Given the description of an element on the screen output the (x, y) to click on. 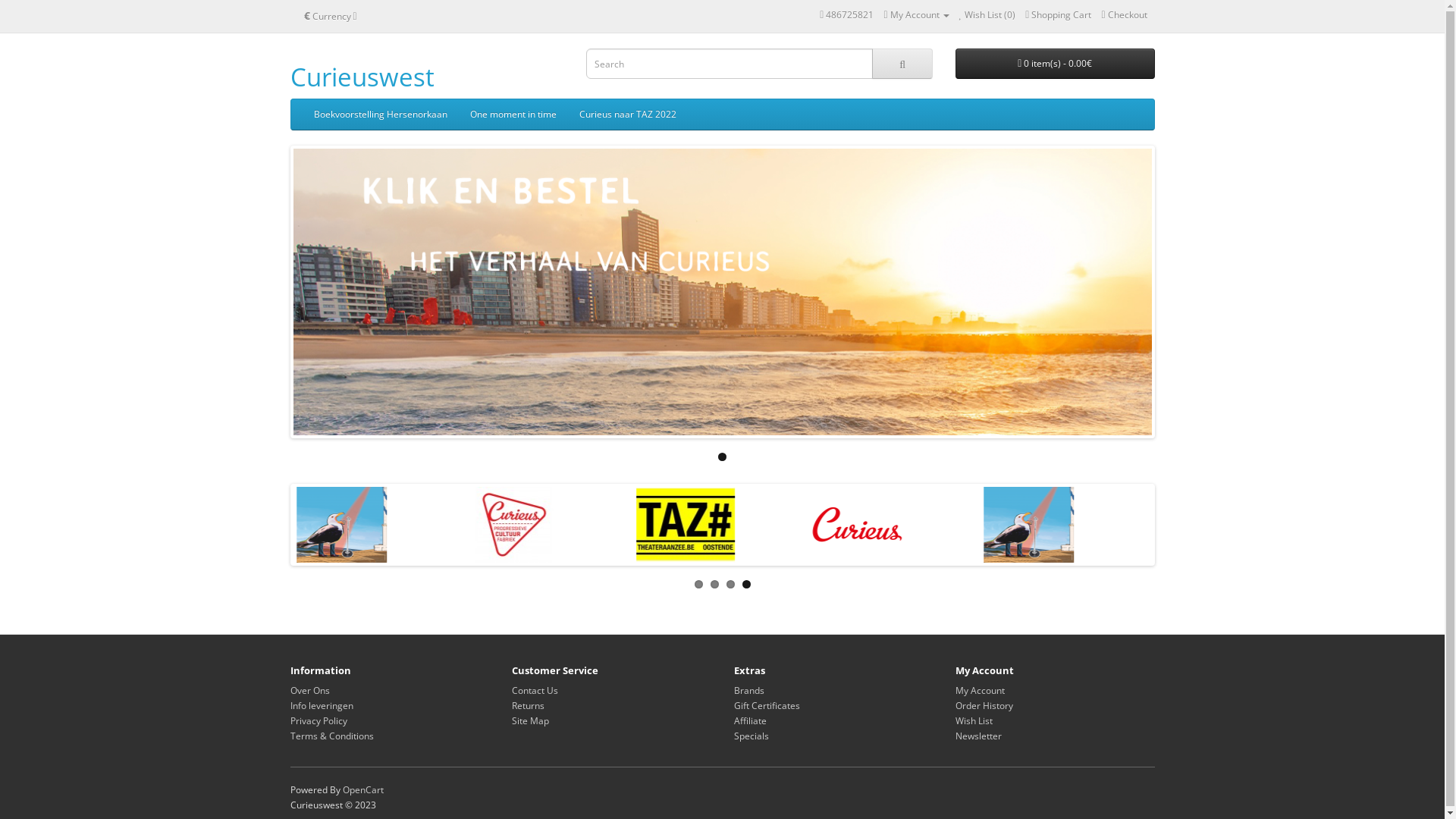
Over Ons Element type: text (309, 690)
My Account Element type: text (915, 14)
Wish List (0) Element type: text (987, 14)
One moment in time Element type: text (512, 114)
OpenCart Element type: text (362, 789)
Curieus naar TAZ 2022 Element type: text (627, 114)
Affiliate Element type: text (750, 720)
My Account Element type: text (979, 690)
Boekvoorstelling Hersenorkaan Element type: text (379, 114)
Privacy Policy Element type: text (317, 720)
Returns Element type: text (527, 705)
Checkout Element type: text (1123, 14)
Wish List Element type: text (973, 720)
Terms & Conditions Element type: text (331, 735)
Shopping Cart Element type: text (1058, 14)
Contact Us Element type: text (534, 690)
Site Map Element type: text (530, 720)
Info leveringen Element type: text (320, 705)
Order History Element type: text (984, 705)
Newsletter Element type: text (978, 735)
Brands Element type: text (749, 690)
Gift Certificates Element type: text (767, 705)
Specials Element type: text (751, 735)
Curieuswest Element type: text (361, 76)
